Given the description of an element on the screen output the (x, y) to click on. 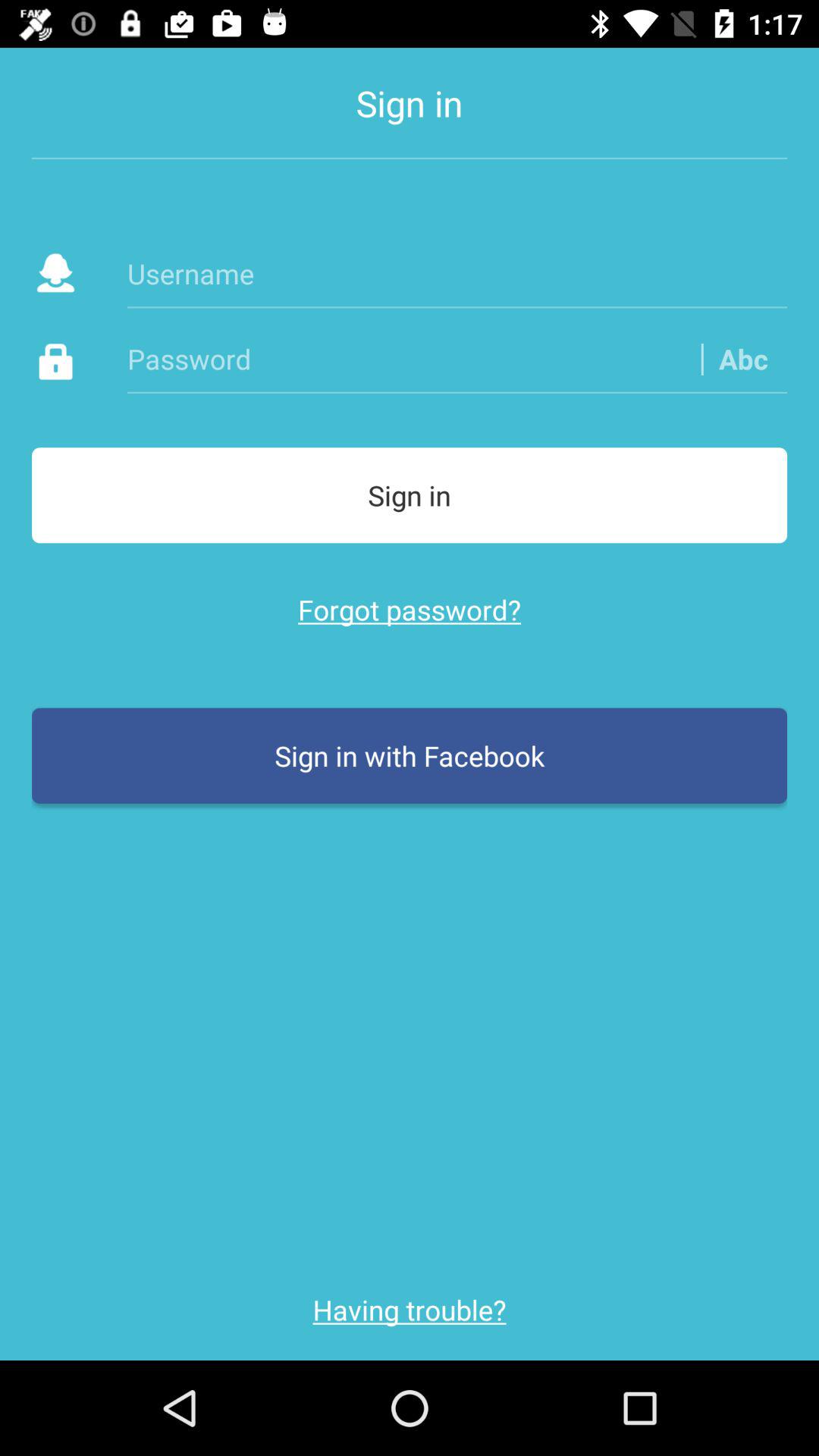
turn off the item below sign in icon (457, 273)
